Given the description of an element on the screen output the (x, y) to click on. 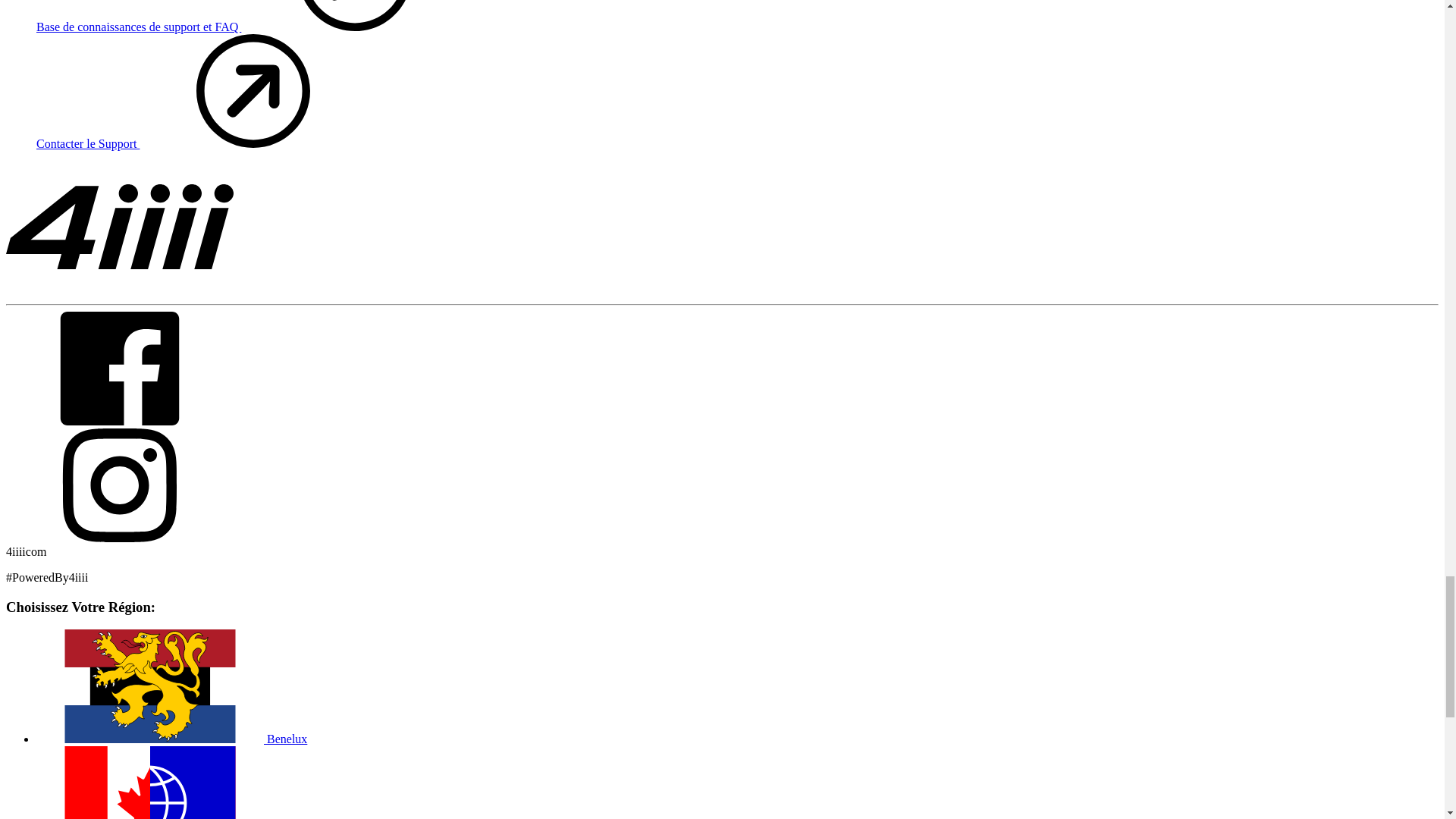
4iiii Innovations (118, 226)
